Given the description of an element on the screen output the (x, y) to click on. 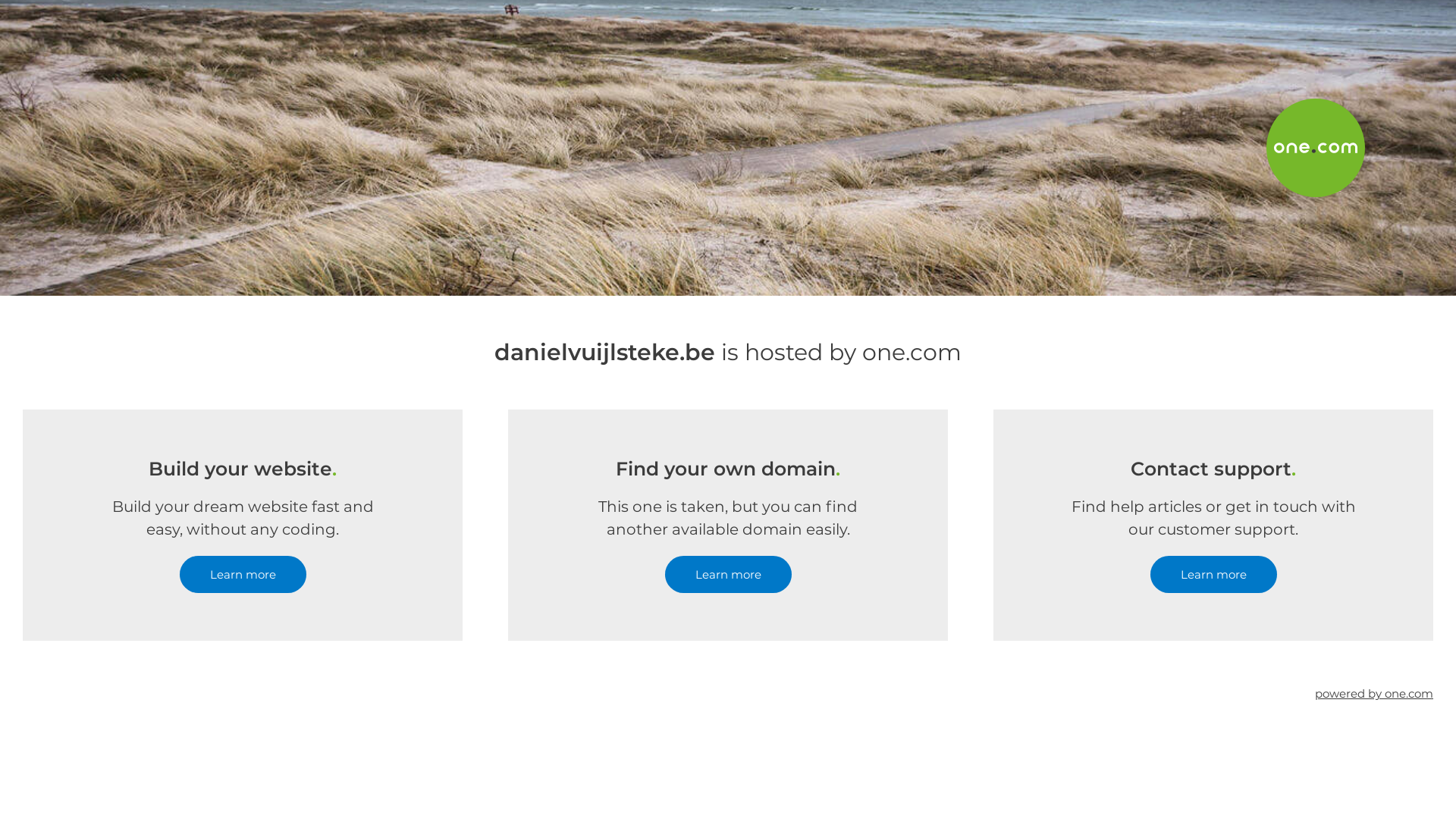
Learn more Element type: text (241, 574)
Learn more Element type: text (1212, 574)
Learn more Element type: text (727, 574)
powered by one.com Element type: text (1373, 693)
